Given the description of an element on the screen output the (x, y) to click on. 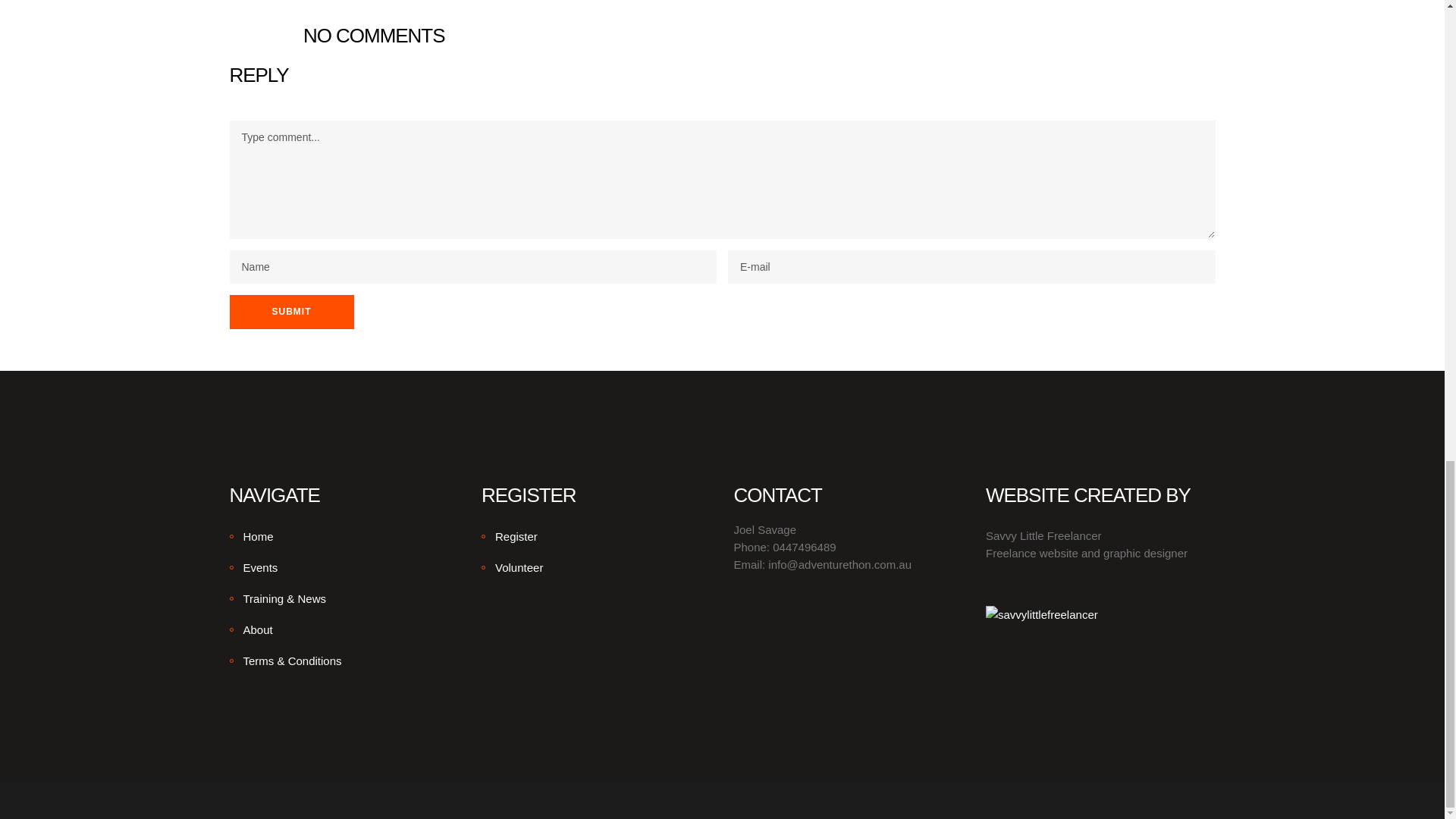
Submit (290, 311)
